Given the description of an element on the screen output the (x, y) to click on. 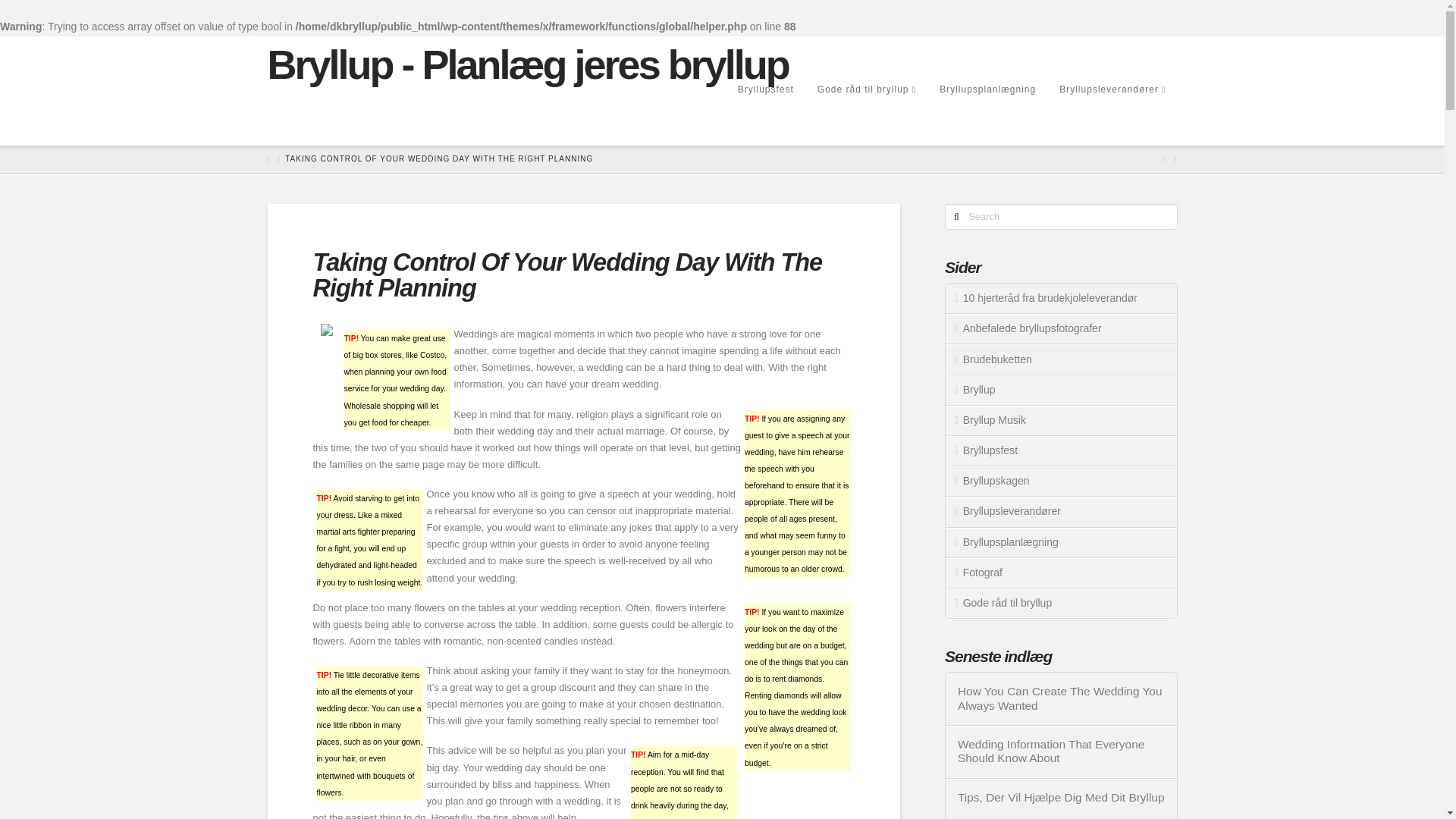
Fotograf (1060, 572)
How You Can Create The Wedding You Always Wanted (1061, 698)
Bryllup (1060, 390)
Bryllupsfest (1060, 450)
Bryllup Musik (1060, 420)
Bryllupskagen (1060, 481)
Anbefalede bryllupsfotografer (1060, 328)
Wedding Information That Everyone Should Know About (1061, 751)
Endnu en WordPress-blog (526, 64)
Bryllupsfest (765, 115)
Brudebuketten (1060, 358)
